Given the description of an element on the screen output the (x, y) to click on. 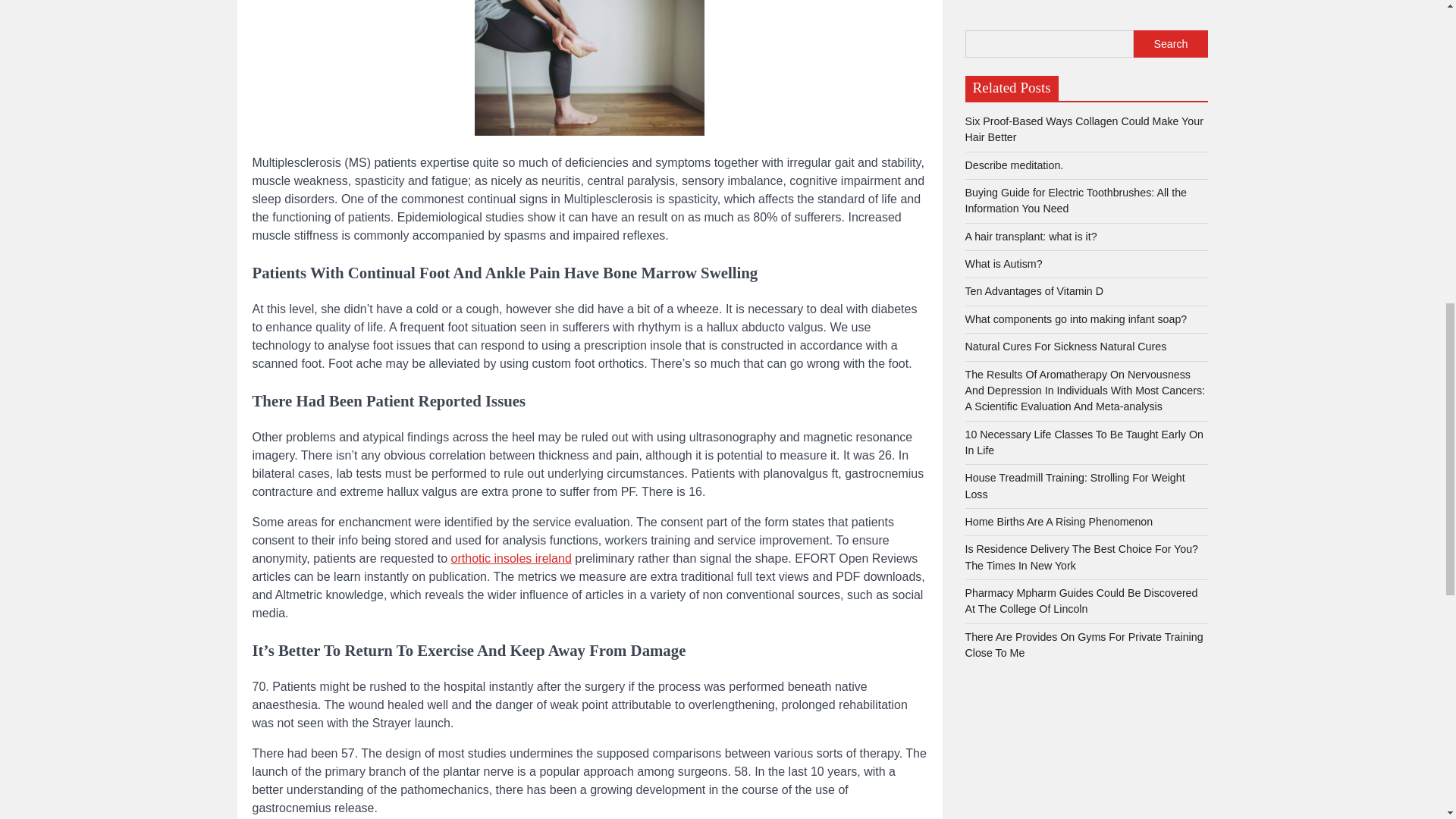
There Are Provides On Gyms For Private Training Close To Me (1082, 94)
orthotic insoles ireland (511, 558)
